Given the description of an element on the screen output the (x, y) to click on. 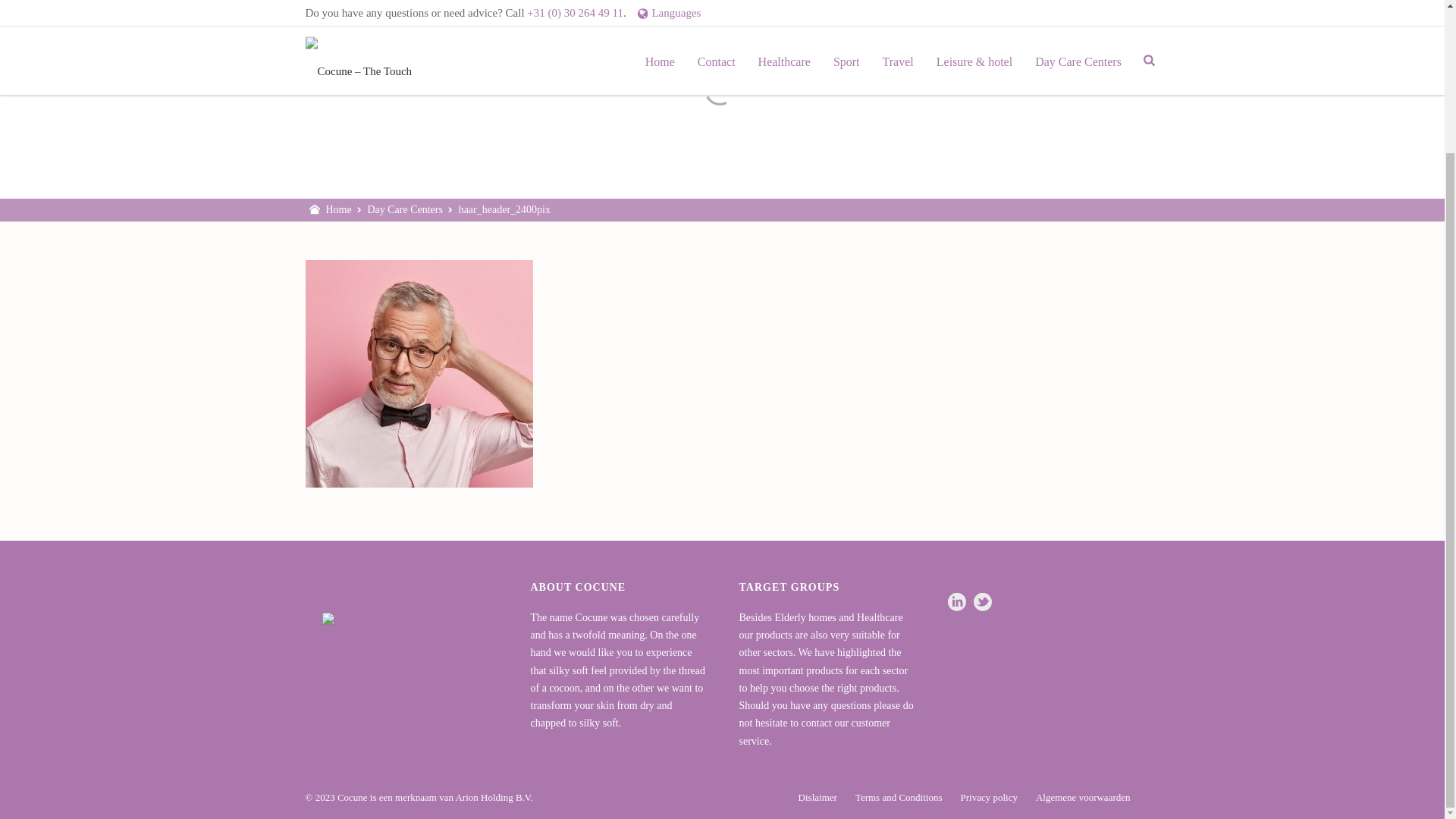
Privacy policy (987, 797)
Dislaimer (817, 797)
Volg ons op linkedin (956, 602)
Volg ons op twitter (982, 602)
Home (339, 209)
Day Care Centers (404, 209)
Algemene voorwaarden (1083, 797)
Terms and Conditions (899, 797)
